Given the description of an element on the screen output the (x, y) to click on. 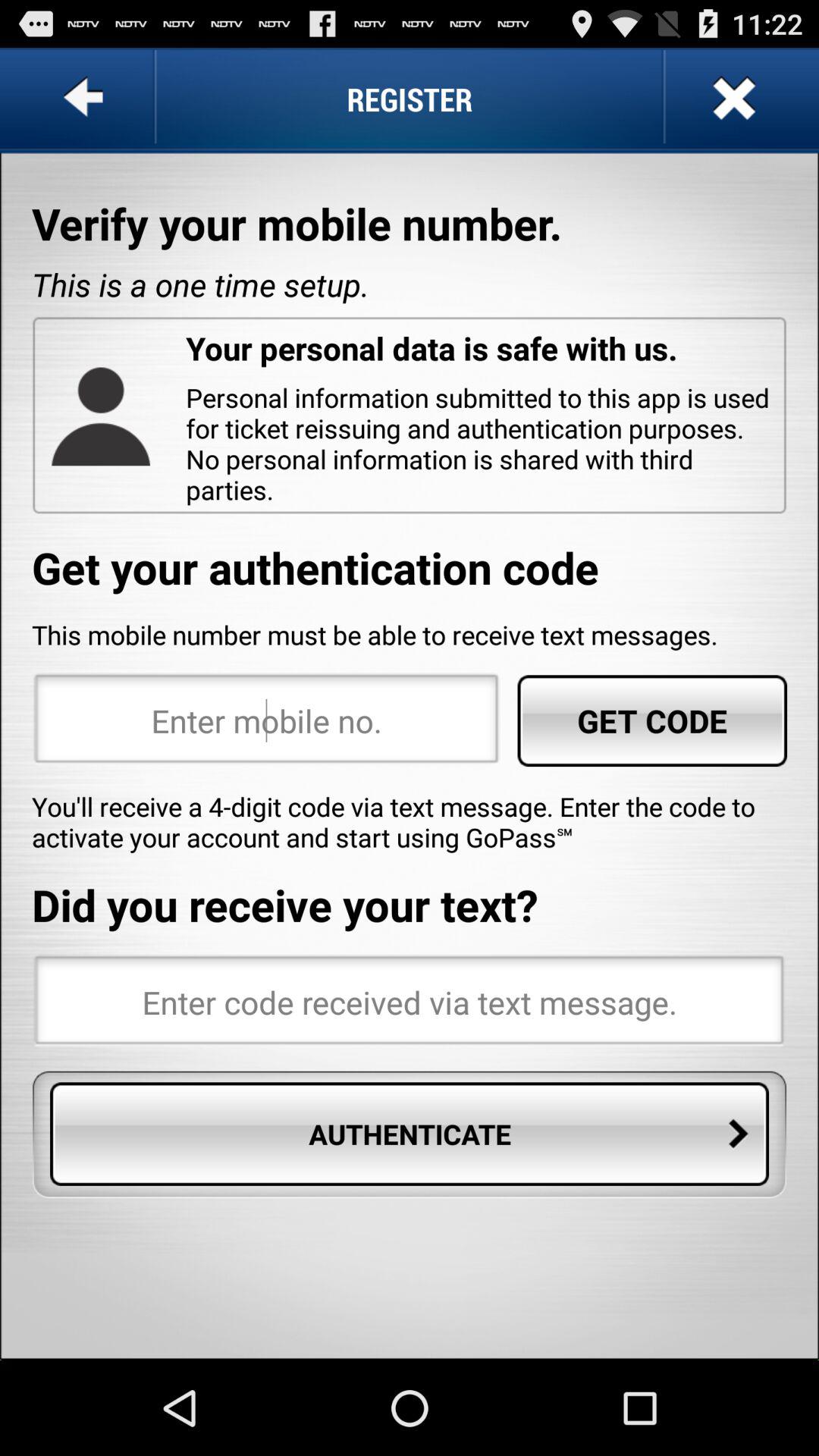
enter your mobile number (266, 720)
